Given the description of an element on the screen output the (x, y) to click on. 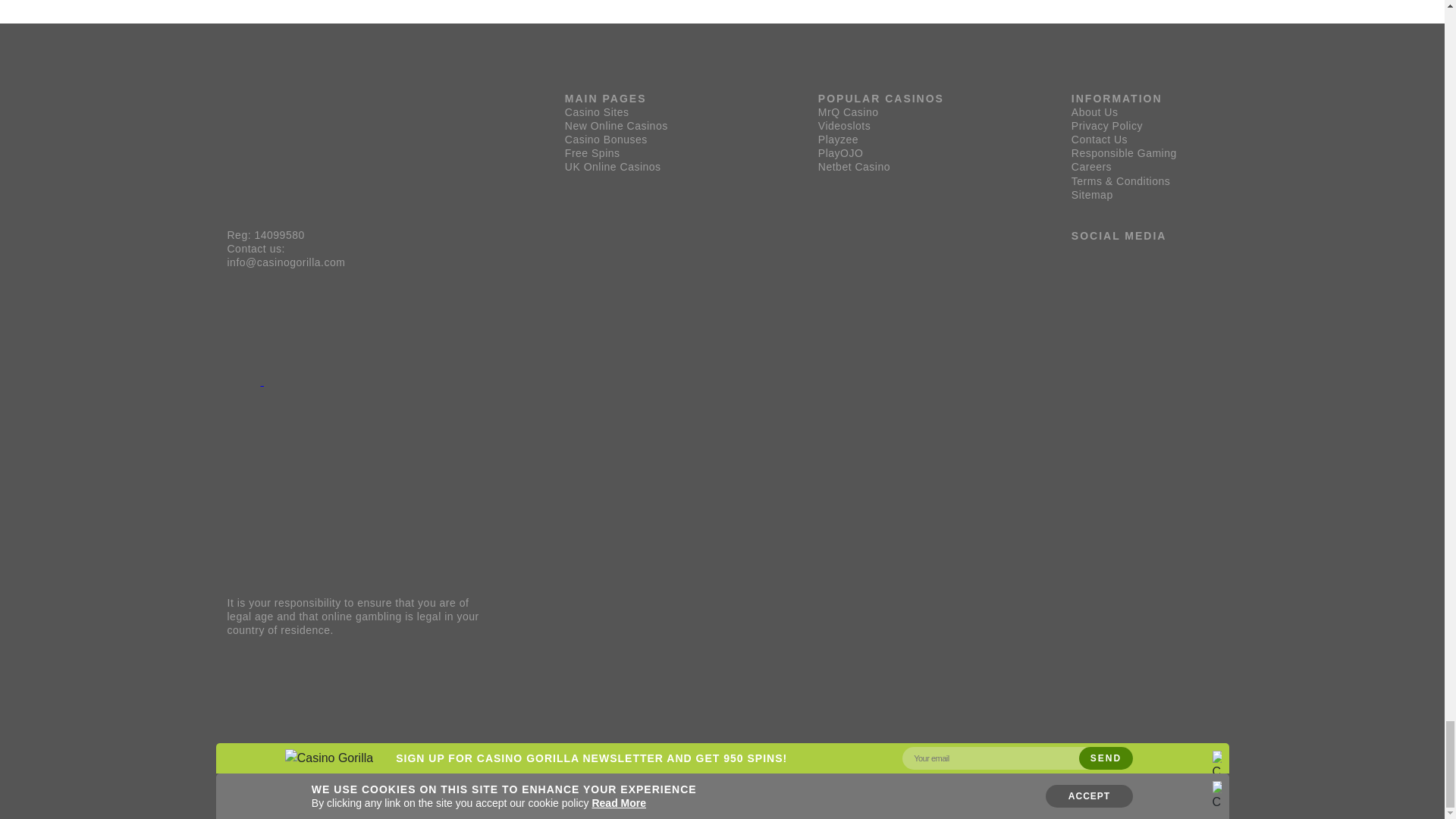
DMCA.com Protection Status (314, 380)
